Given the description of an element on the screen output the (x, y) to click on. 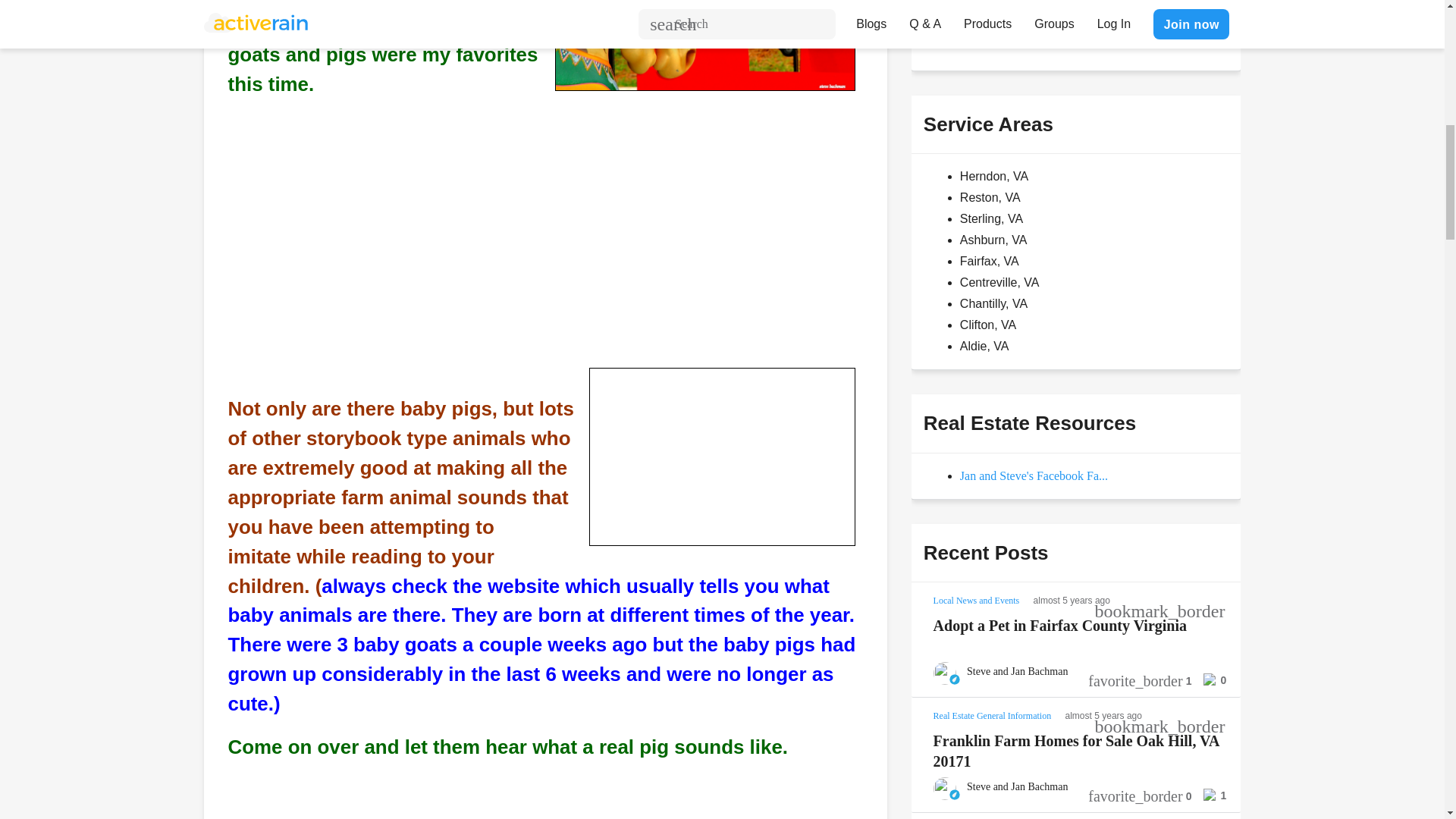
Jan and Steve's Facebook Fan Page (1033, 475)
carousel at kidwell farm at frying pan park (705, 45)
Send Message (978, 30)
